Given the description of an element on the screen output the (x, y) to click on. 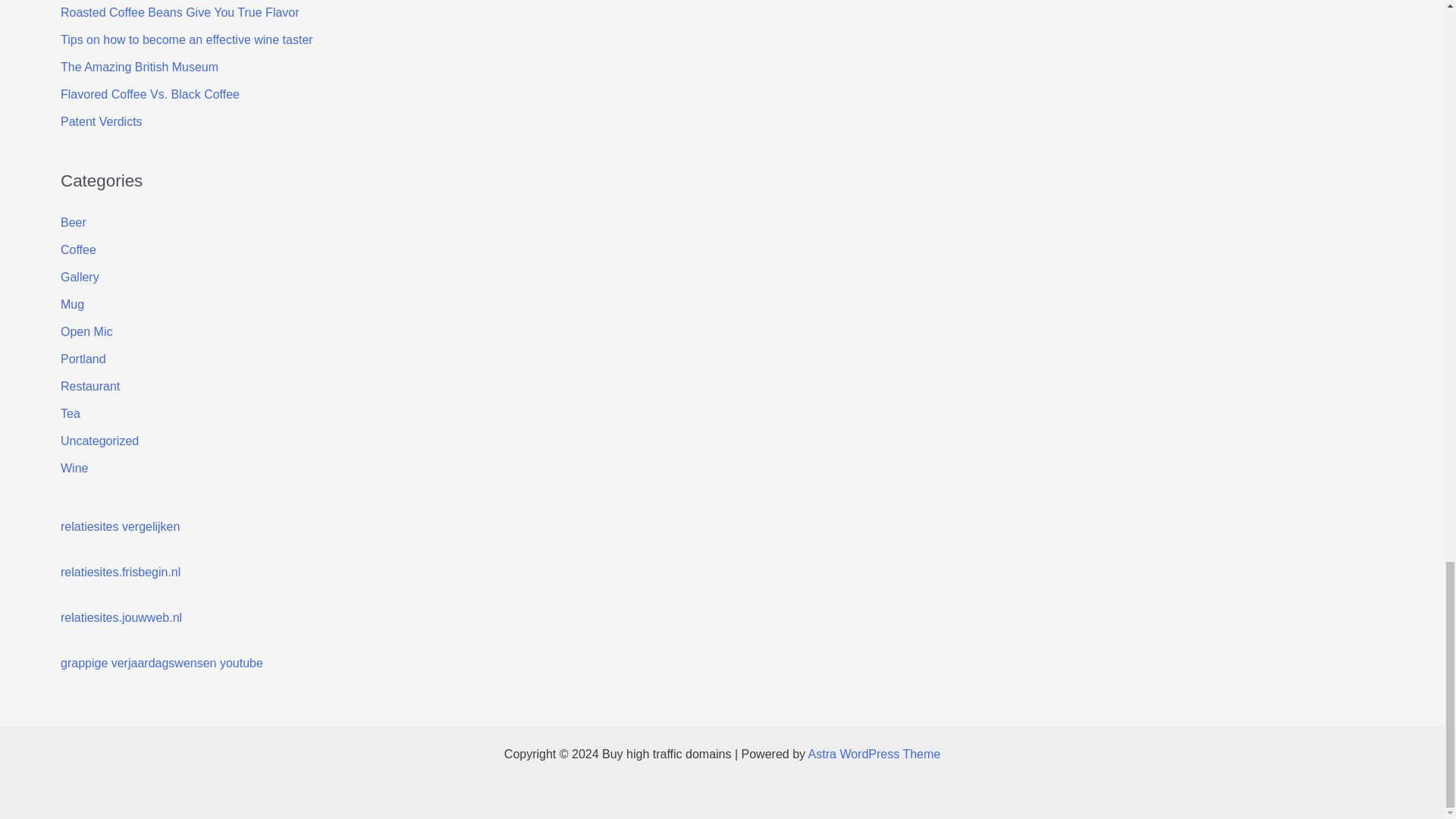
Open Mic (86, 331)
relatiesites.jouwweb.nl (121, 617)
Astra WordPress Theme (874, 753)
The Amazing British Museum (139, 66)
grappige verjaardagswensen youtube (162, 662)
Gallery (80, 277)
Mug (72, 304)
Flavored Coffee Vs. Black Coffee (150, 93)
relatiesites vergelijken (120, 526)
Tea (70, 413)
Roasted Coffee Beans Give You True Flavor (180, 11)
Portland (83, 358)
Restaurant (90, 386)
Beer (73, 222)
relatiesites.frisbegin.nl (120, 571)
